Given the description of an element on the screen output the (x, y) to click on. 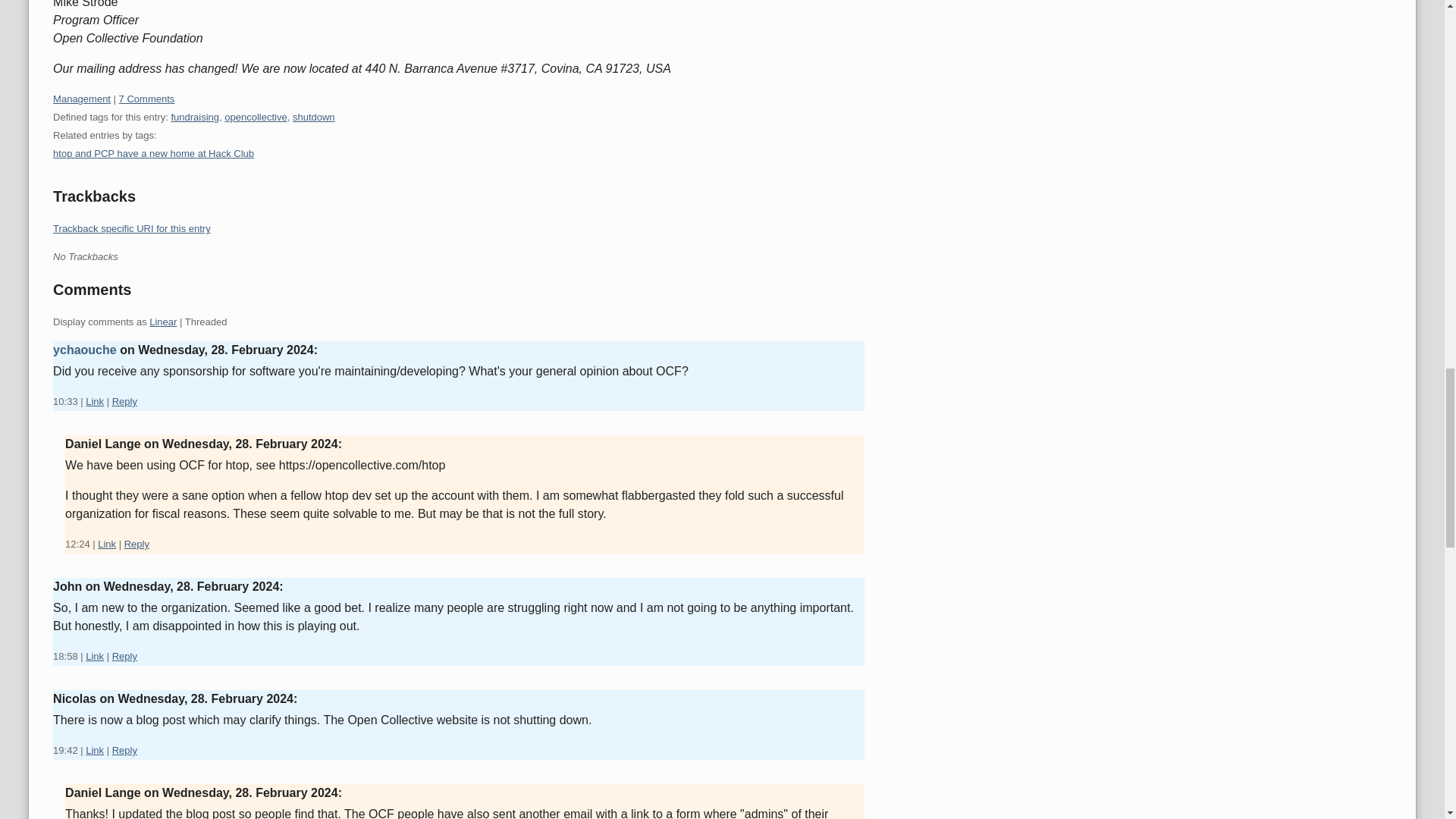
7 Comments, 0 Trackbacks (146, 98)
Link (94, 401)
opencollective (255, 116)
Permanent link for this comment (94, 655)
Reply (124, 749)
htop and PCP have a new home at Hack Club (152, 153)
Link (94, 749)
ychaouche (84, 349)
7 Comments (146, 98)
Permanent link for this comment (94, 401)
